Given the description of an element on the screen output the (x, y) to click on. 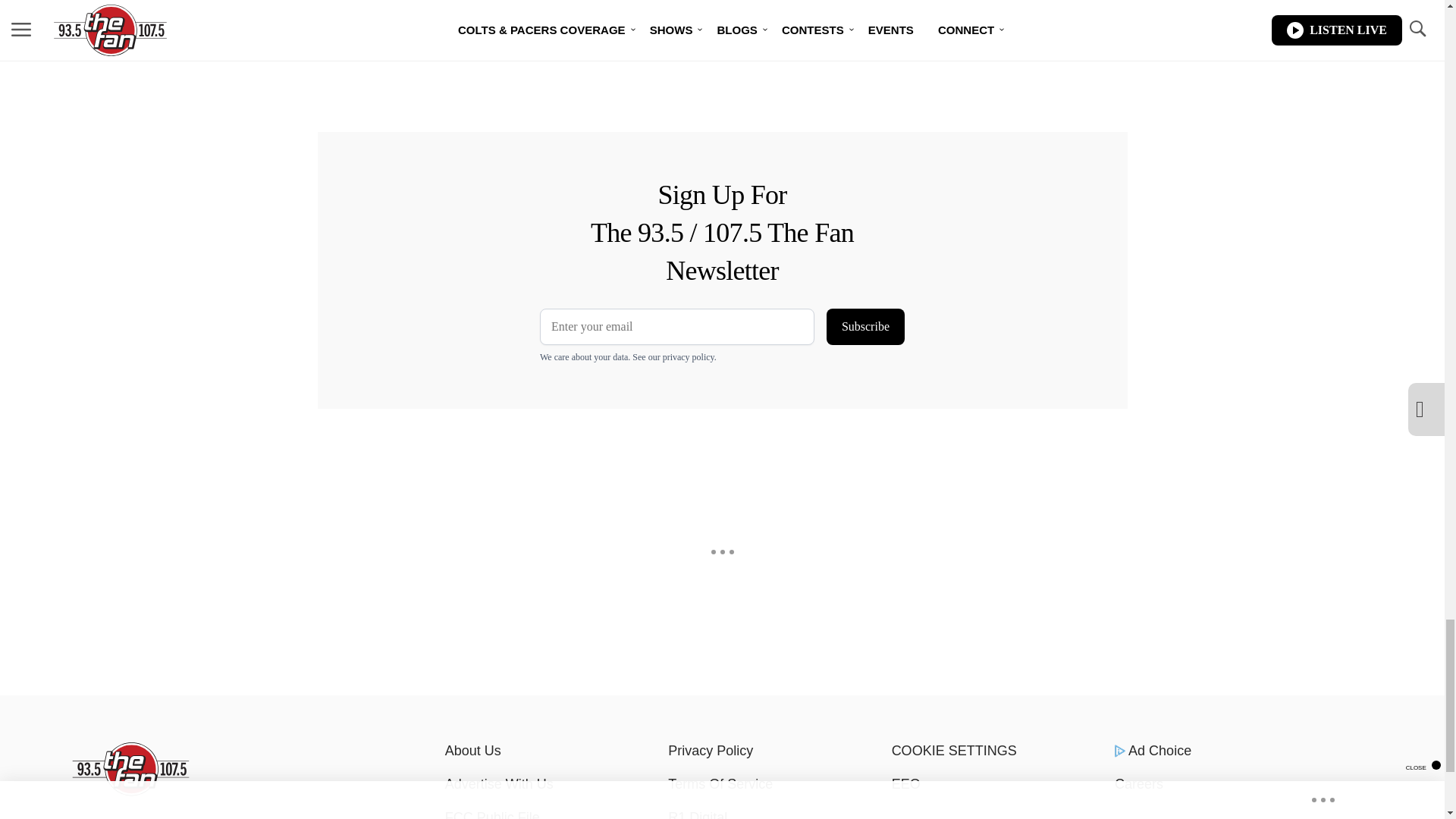
Comment Form (585, 64)
